Given the description of an element on the screen output the (x, y) to click on. 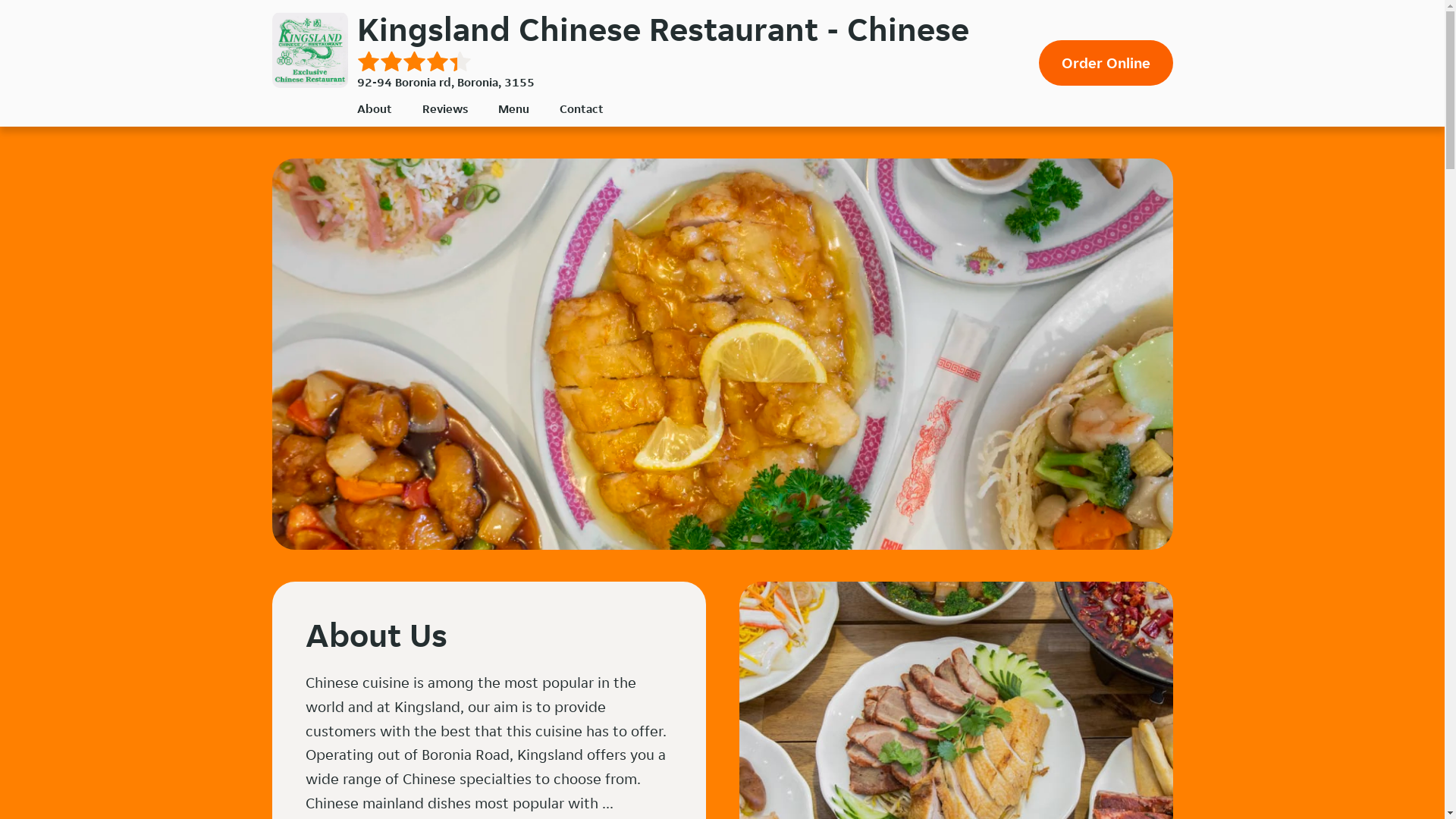
Reviews Element type: text (444, 108)
About Element type: text (373, 108)
Order Online Element type: text (1105, 62)
Contact Element type: text (581, 108)
Menu Element type: text (512, 108)
Kingsland Chinese Restaurant Element type: hover (309, 49)
